Given the description of an element on the screen output the (x, y) to click on. 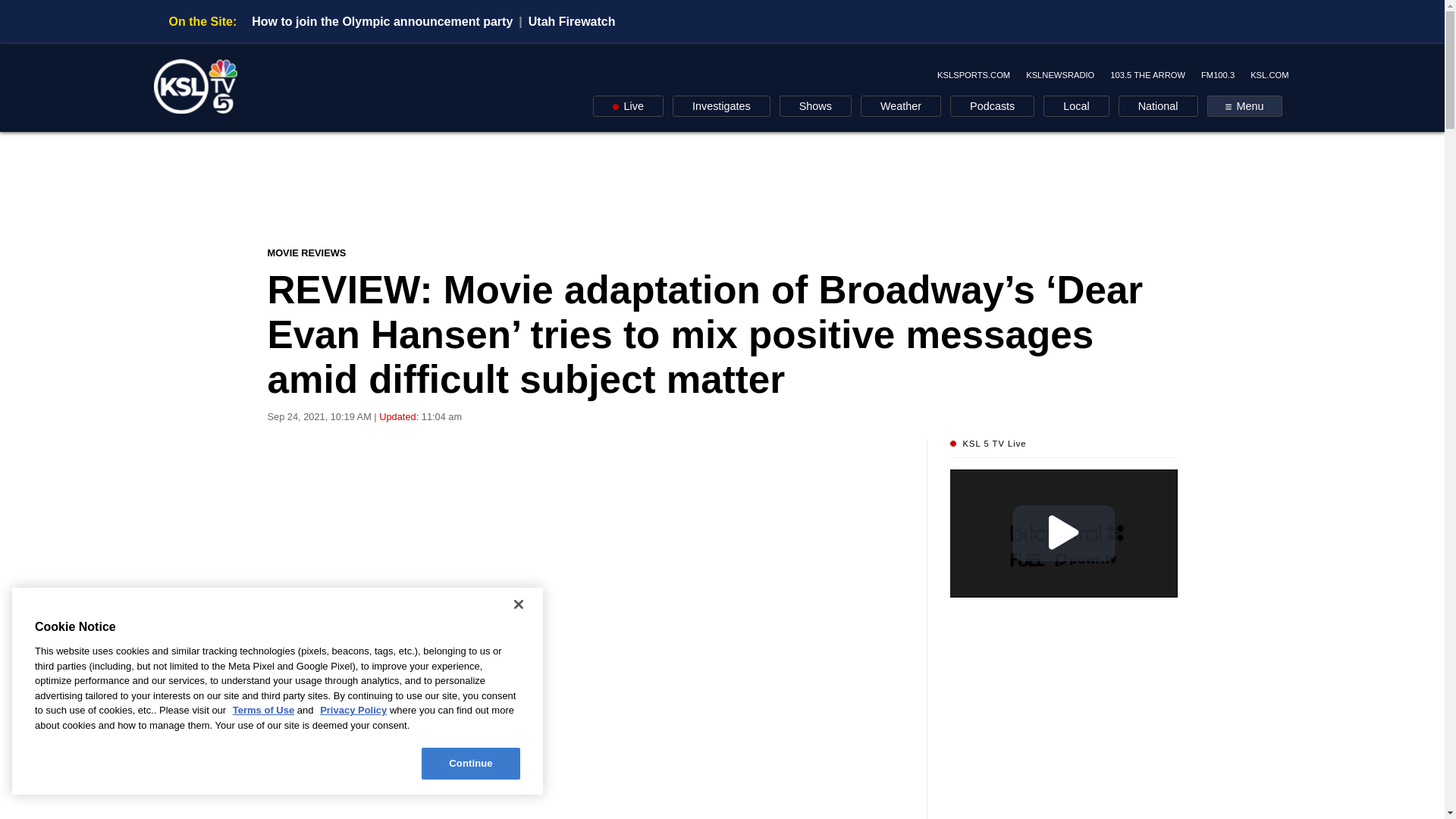
Utah Firewatch (571, 21)
How to join the Olympic announcement party (381, 21)
3rd party ad content (722, 188)
Play Video (1063, 532)
